Given the description of an element on the screen output the (x, y) to click on. 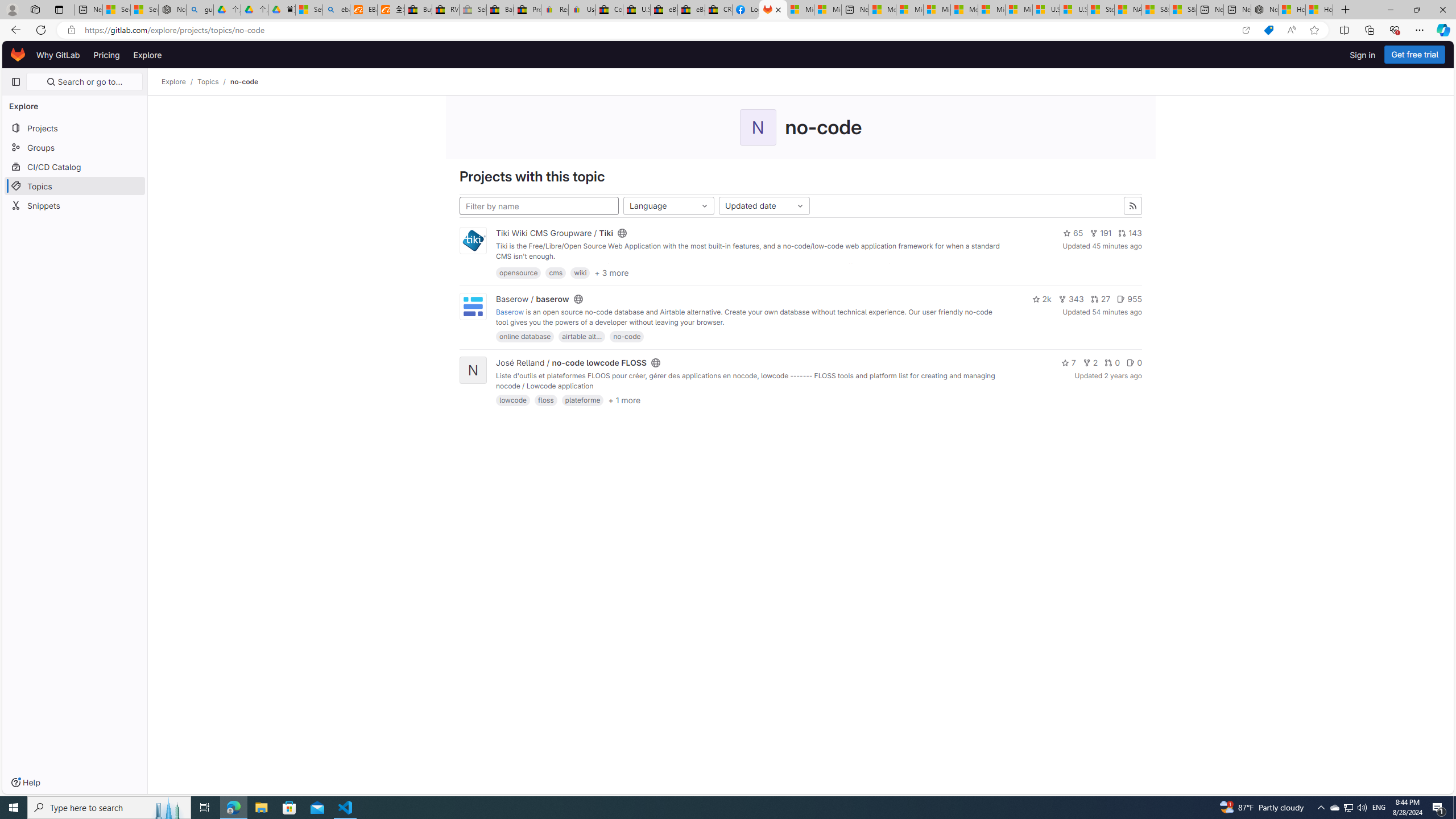
Explore/ (179, 81)
online database (524, 336)
Topics (208, 81)
guge yunpan - Search (200, 9)
S&P 500, Nasdaq end lower, weighed by Nvidia dip | Watch (1182, 9)
65 (1072, 232)
Projects (74, 127)
